Given the description of an element on the screen output the (x, y) to click on. 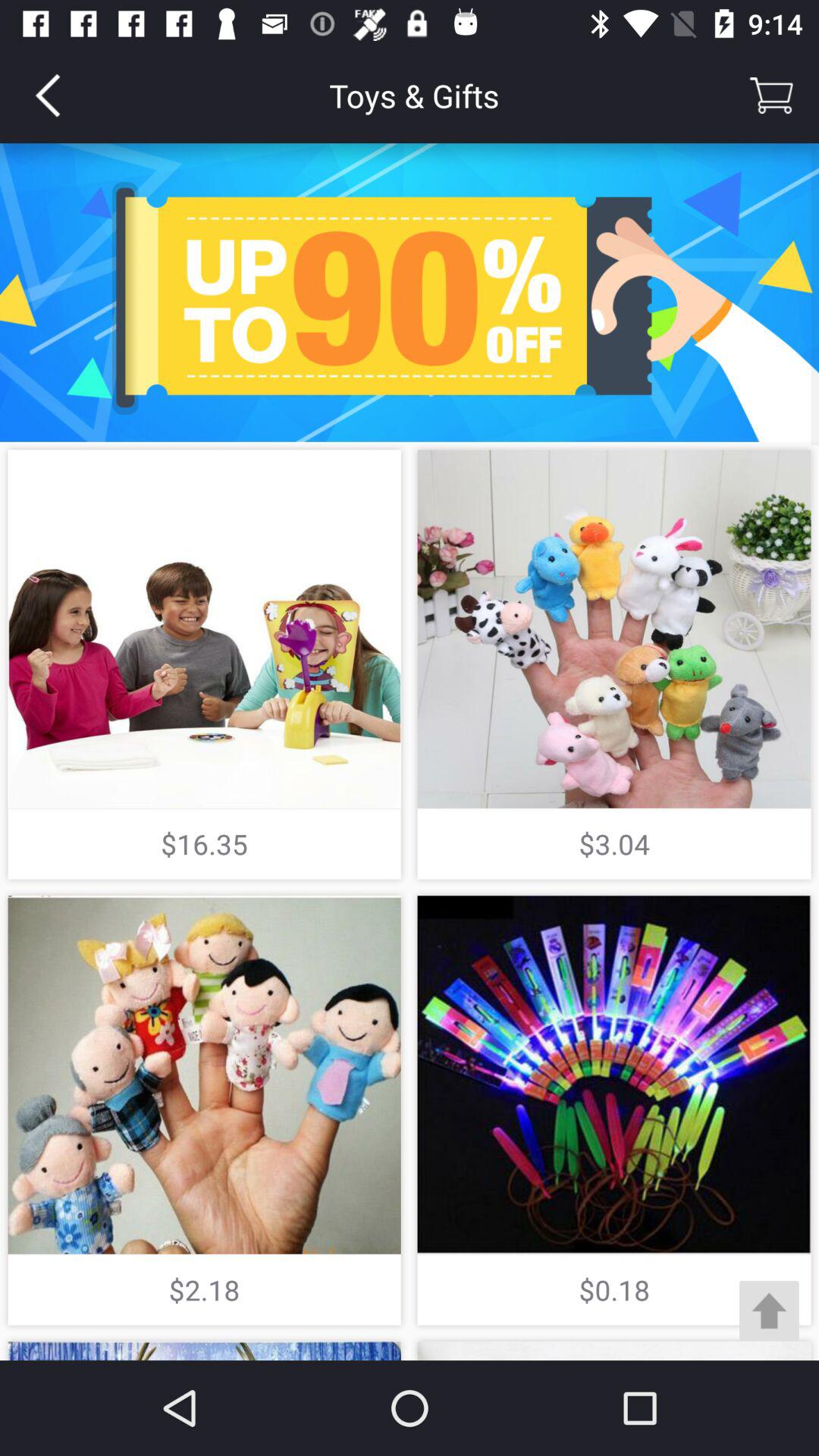
click on the shopping cart icon (771, 95)
